Given the description of an element on the screen output the (x, y) to click on. 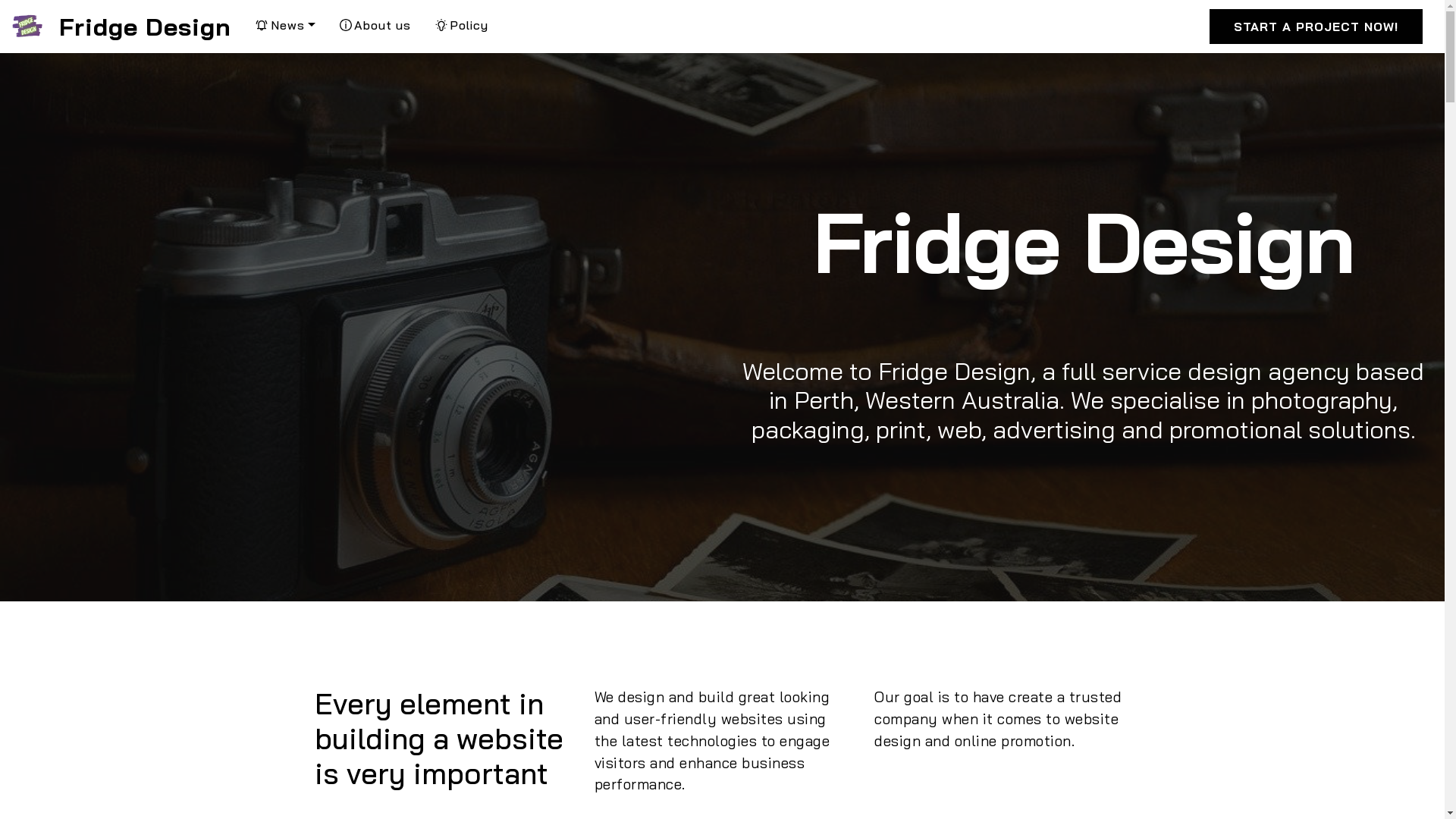
Policy Element type: text (461, 24)
Fridge Design Element type: text (145, 26)
News Element type: text (284, 24)
About us Element type: text (375, 24)
START A PROJECT NOW! Element type: text (1315, 26)
